Given the description of an element on the screen output the (x, y) to click on. 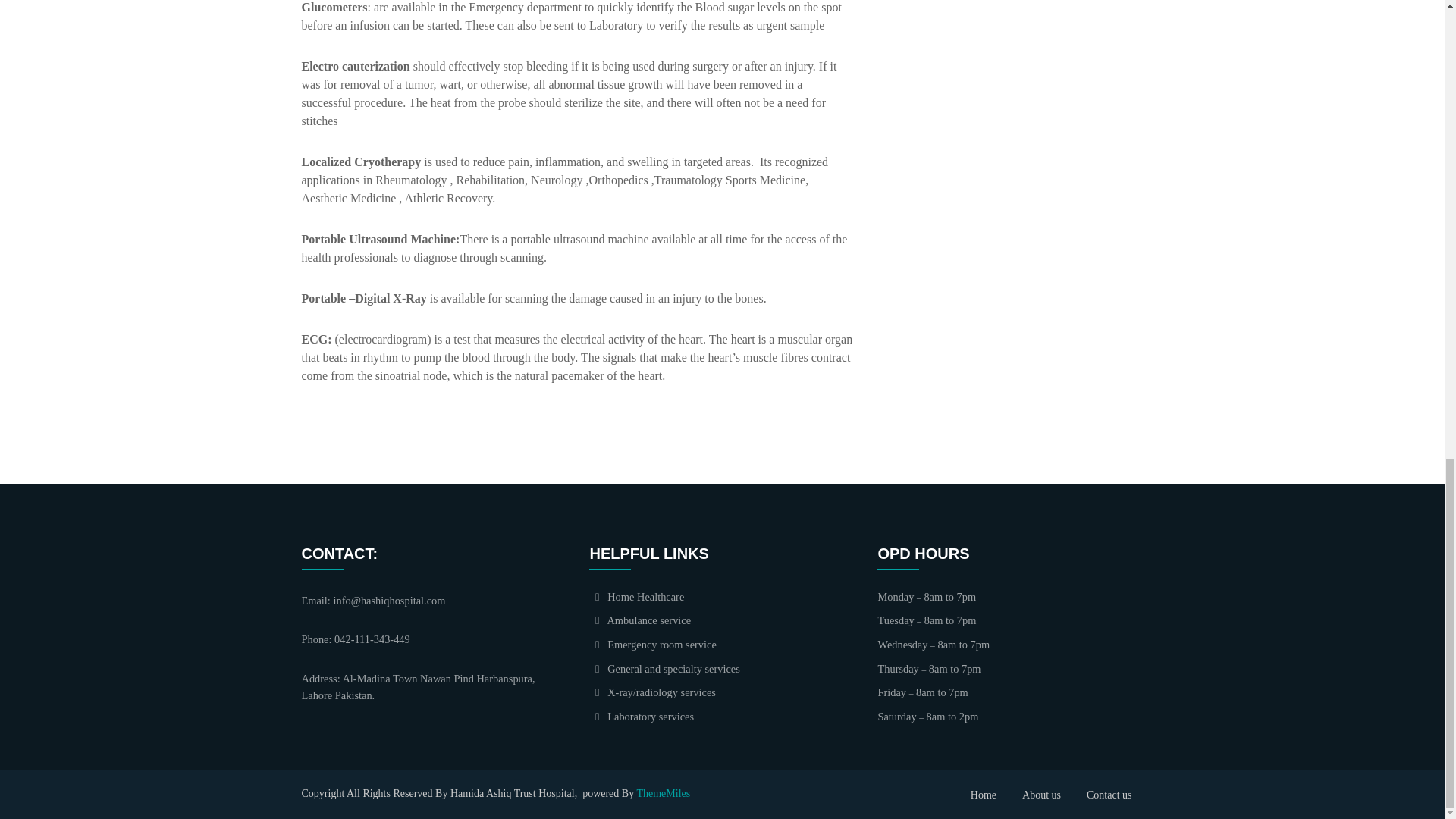
Home (983, 794)
About us (1041, 794)
Home Healthcare (636, 596)
Laboratory services (641, 716)
Emergency room service (652, 644)
Ambulance service (639, 620)
Contact us (1109, 794)
ThemeMiles (663, 793)
General and specialty services (664, 668)
